Given the description of an element on the screen output the (x, y) to click on. 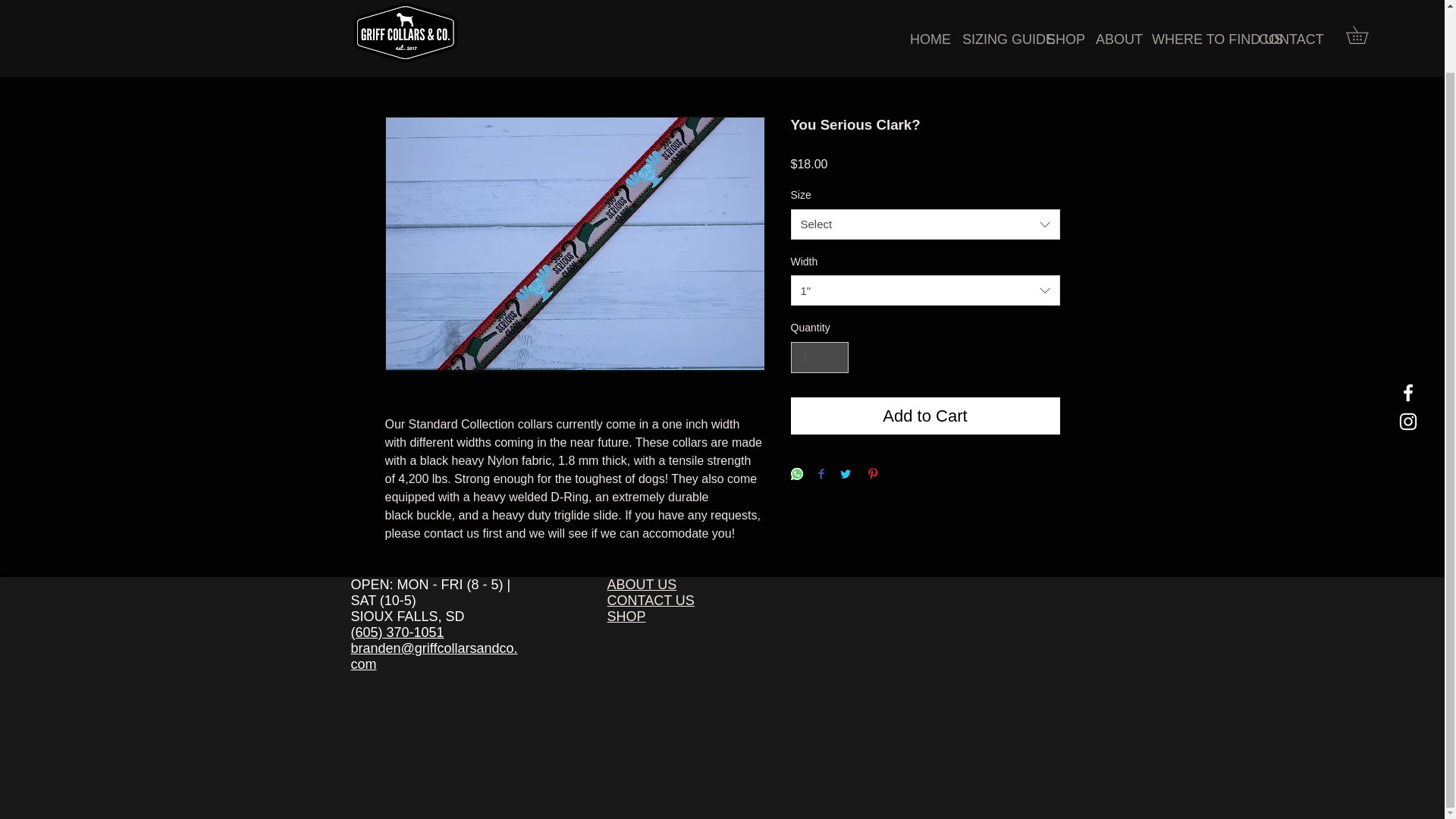
WHERE TO FIND US (1193, 1)
1" (924, 290)
SIZING GUIDE (992, 1)
CONTACT (1280, 1)
1 (818, 357)
CONTACT US (650, 600)
SHOP (1059, 1)
ABOUT (1112, 1)
Select (924, 224)
HOME (924, 1)
ABOUT US (642, 584)
Add to Cart (924, 415)
SHOP (626, 616)
